Given the description of an element on the screen output the (x, y) to click on. 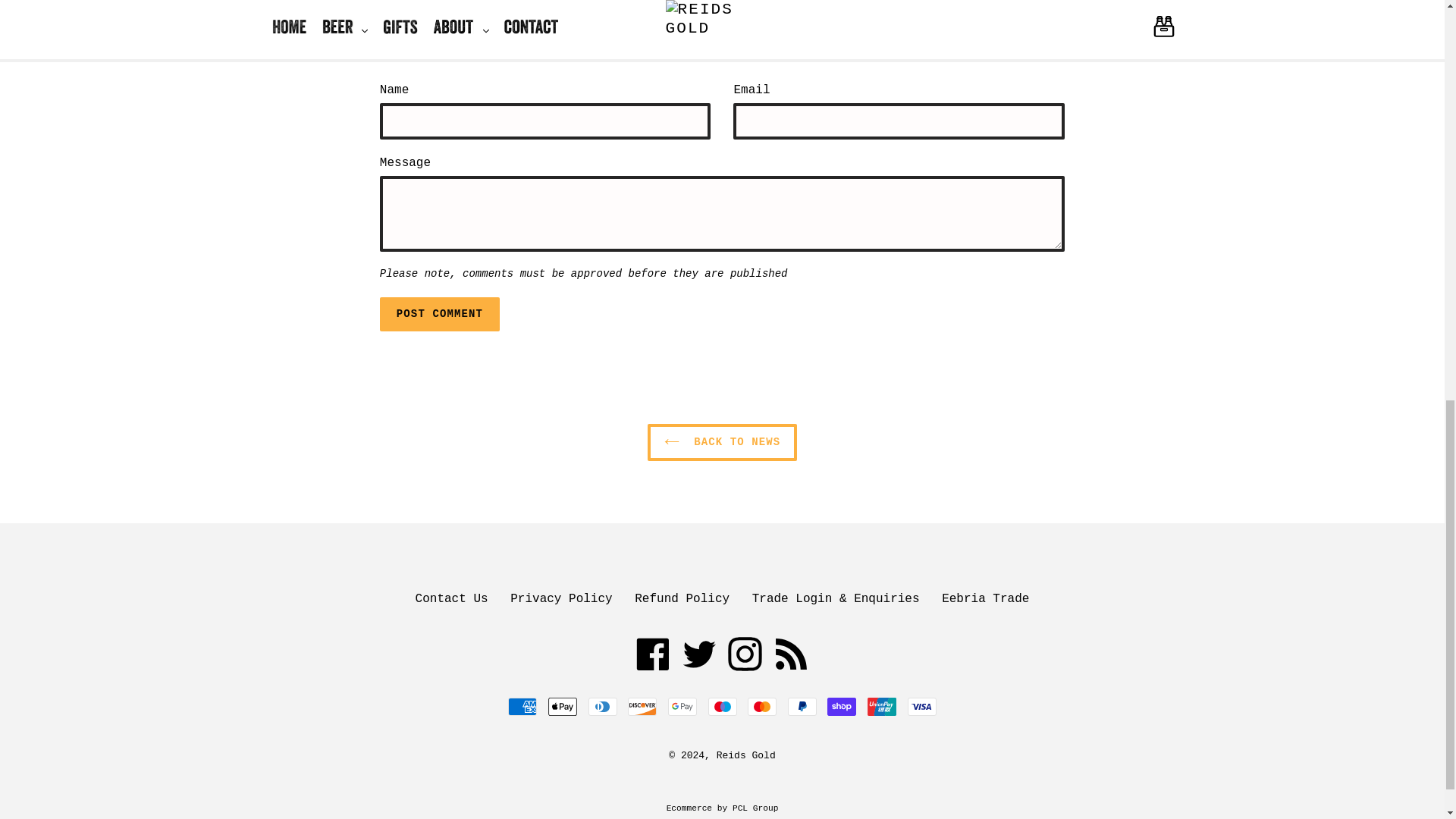
Mastercard (762, 706)
Post comment (439, 314)
Google Pay (682, 706)
Diners Club (602, 706)
Privacy Policy (561, 599)
Contact Us (450, 599)
Union Pay (881, 706)
Discover (641, 706)
BACK TO NEWS (722, 442)
Maestro (721, 706)
